Given the description of an element on the screen output the (x, y) to click on. 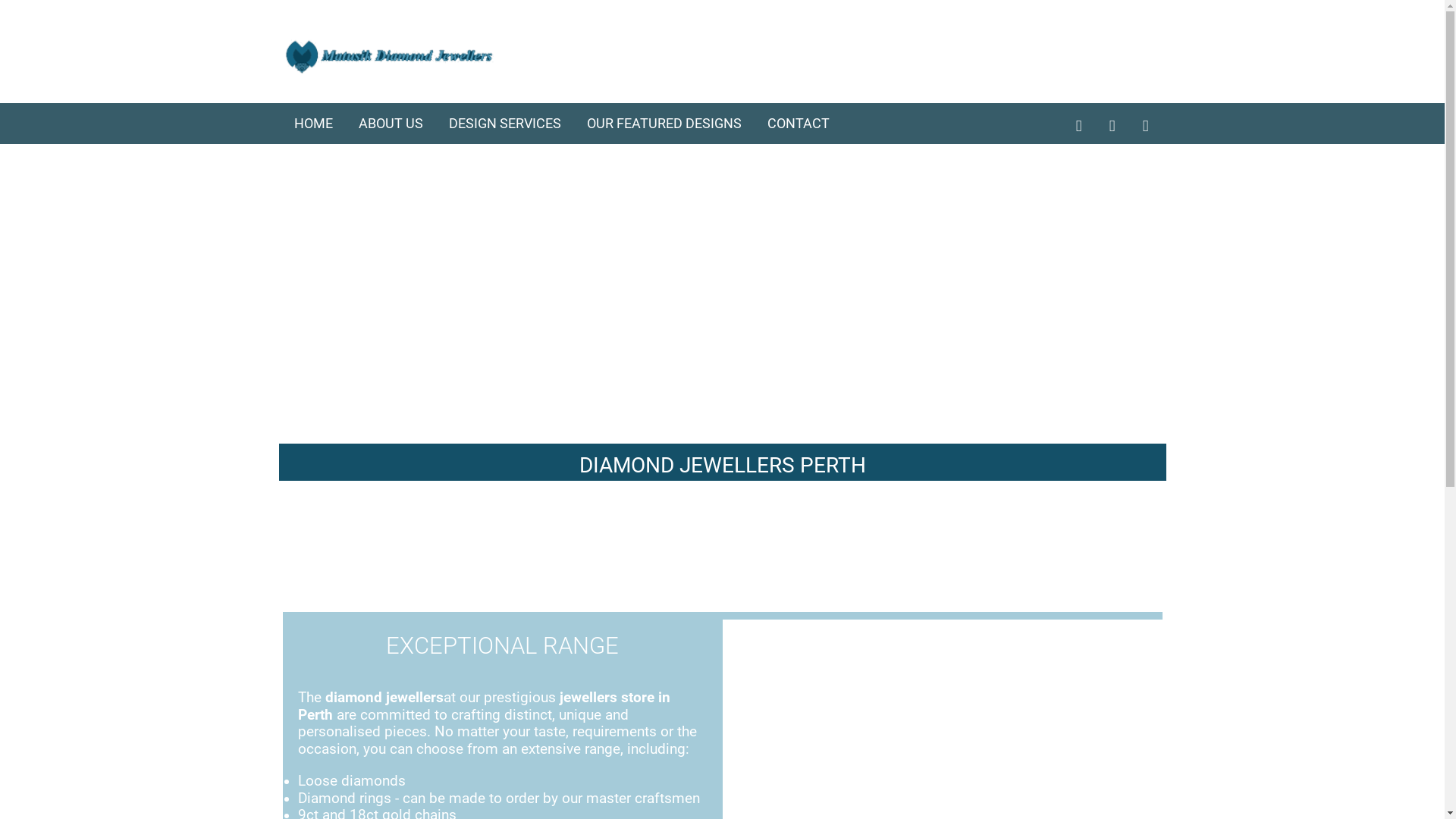
DESIGN SERVICES Element type: text (504, 123)
08 9271 1971 Element type: text (1090, 64)
CONTACT Element type: text (798, 123)
ABOUT US Element type: text (389, 123)
OUR FEATURED DESIGNS Element type: text (663, 123)
HOME Element type: text (313, 123)
